Given the description of an element on the screen output the (x, y) to click on. 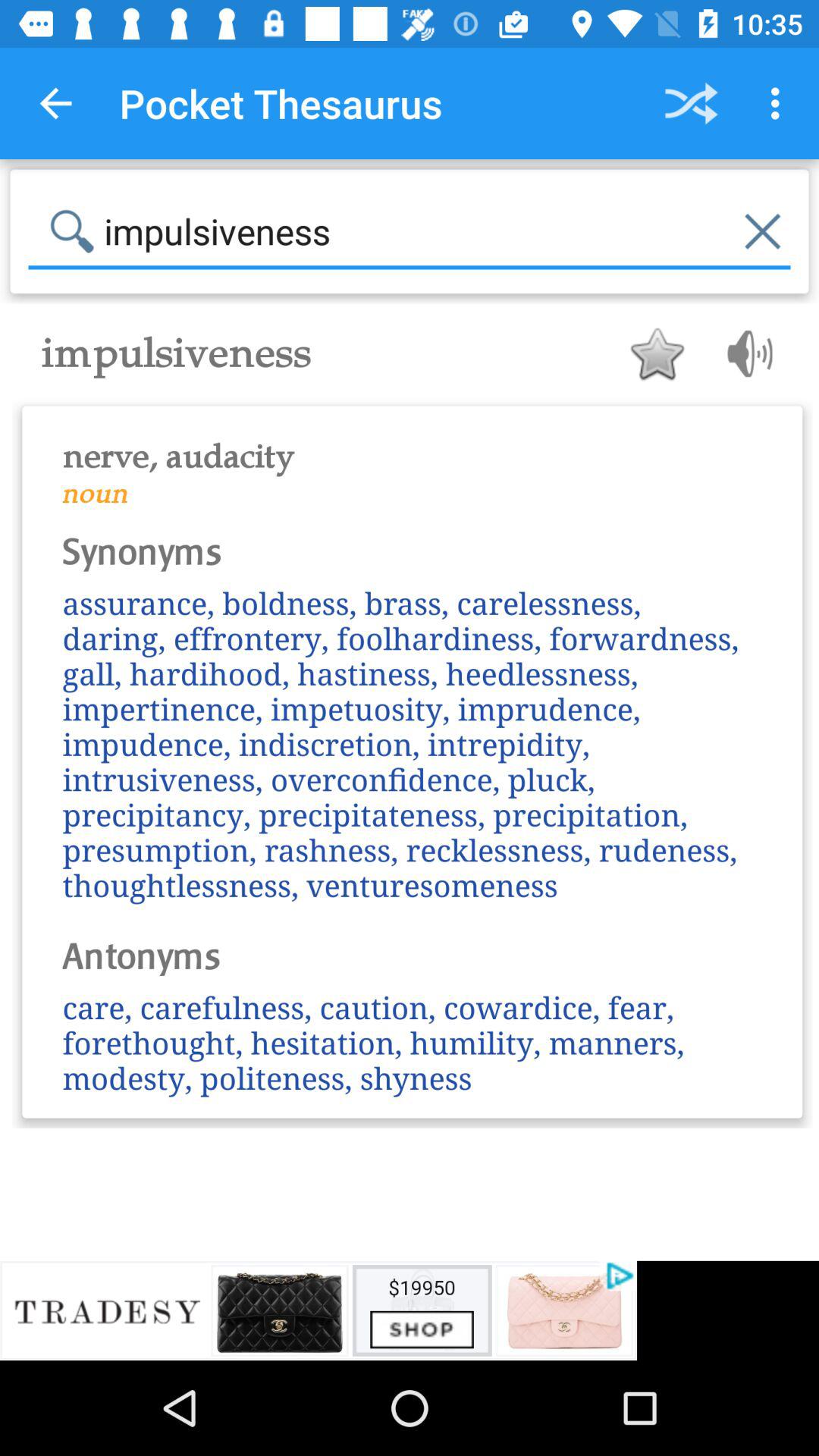
select the symbol beside star symbol (745, 353)
click on search bar (409, 232)
go to 3 lines text below antonyms (412, 1042)
read the text above noun (412, 446)
